Given the description of an element on the screen output the (x, y) to click on. 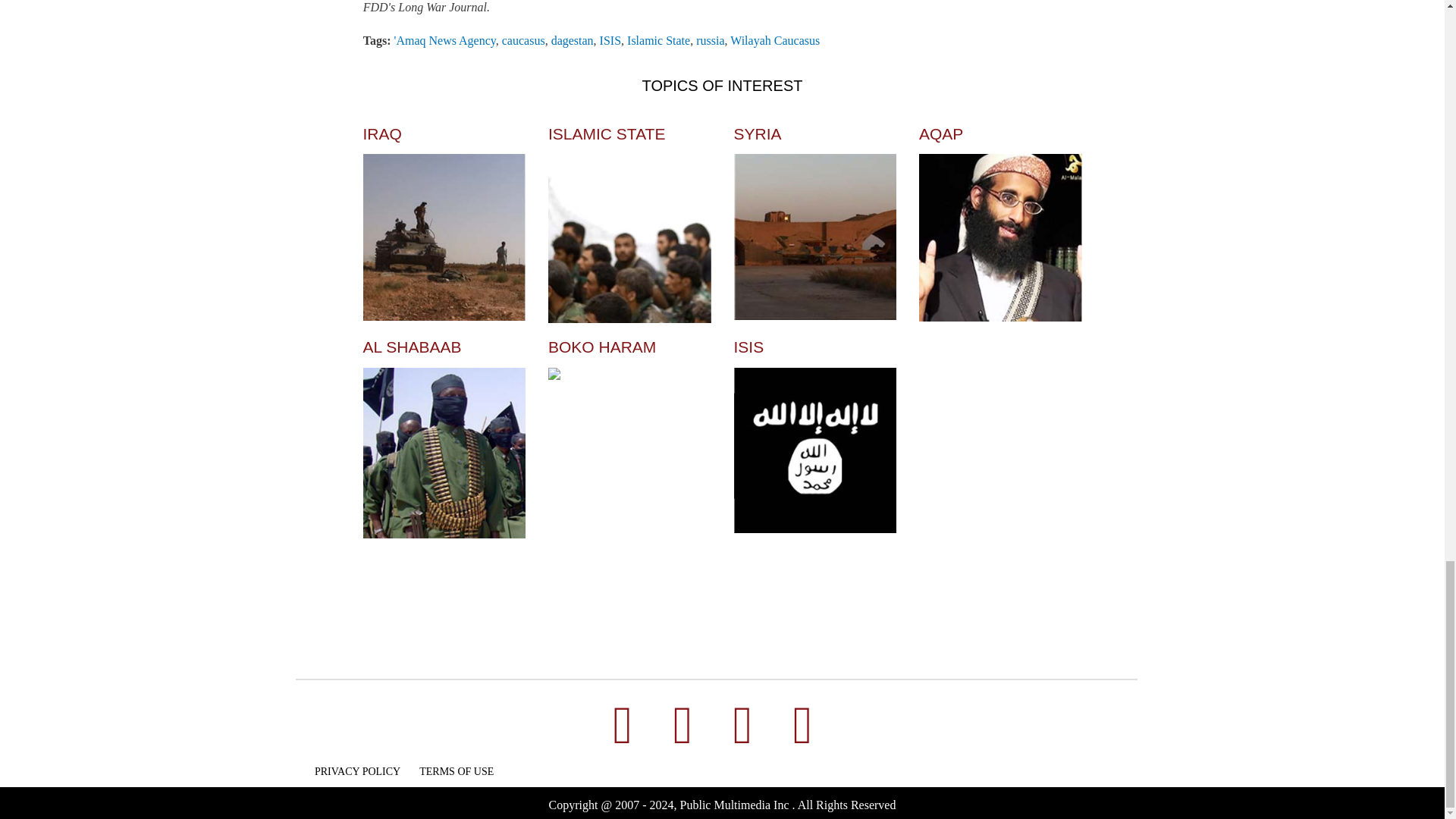
caucasus (523, 40)
Islamic State (658, 40)
Wilayah Caucasus (774, 40)
dagestan (572, 40)
'Amaq News Agency (445, 40)
ISIS (610, 40)
russia (709, 40)
